Given the description of an element on the screen output the (x, y) to click on. 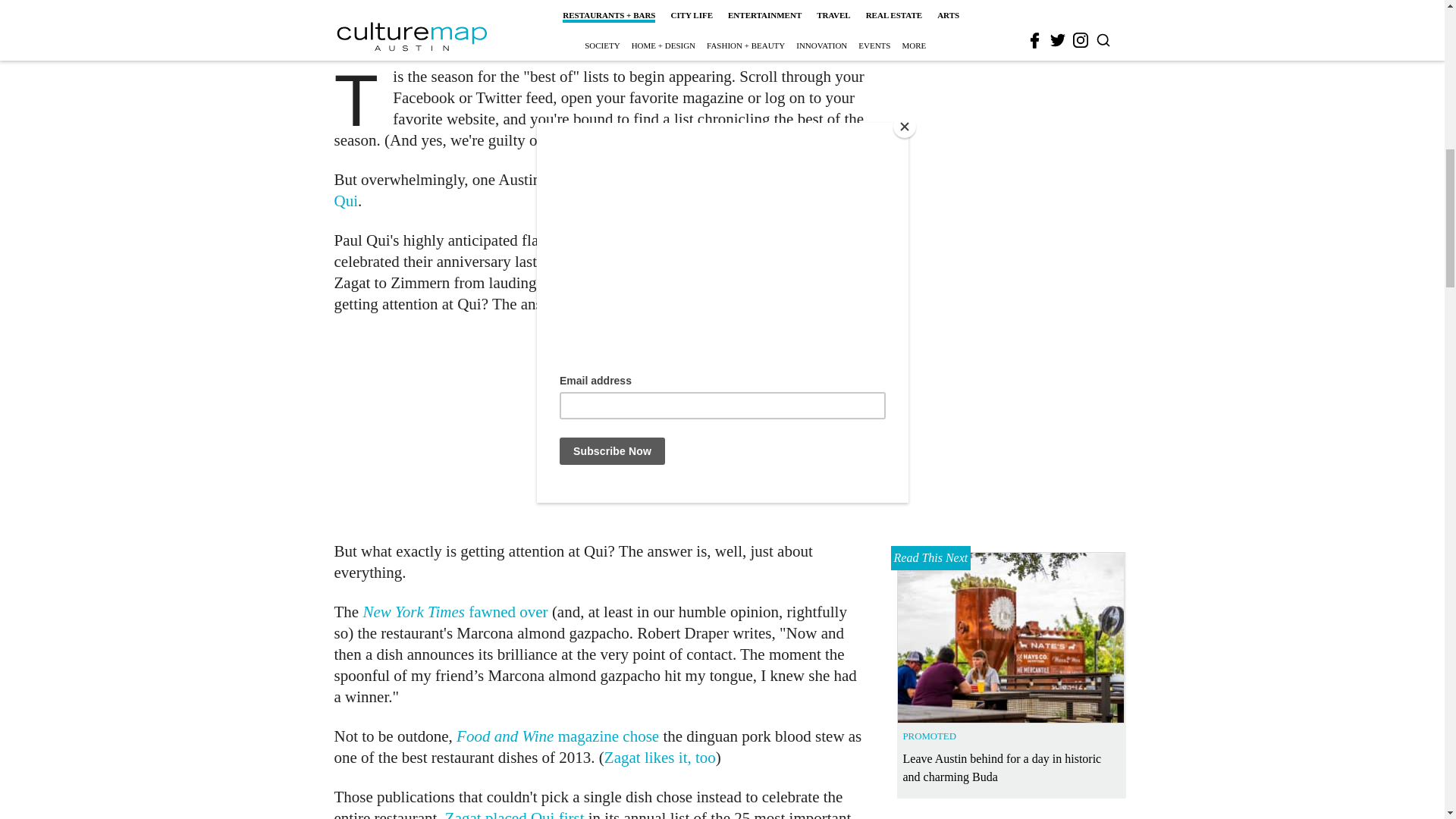
Leave Austin behind for a day in historic and charming Buda (1010, 168)
3rd party ad content (600, 427)
3rd party ad content (1011, 4)
